Given the description of an element on the screen output the (x, y) to click on. 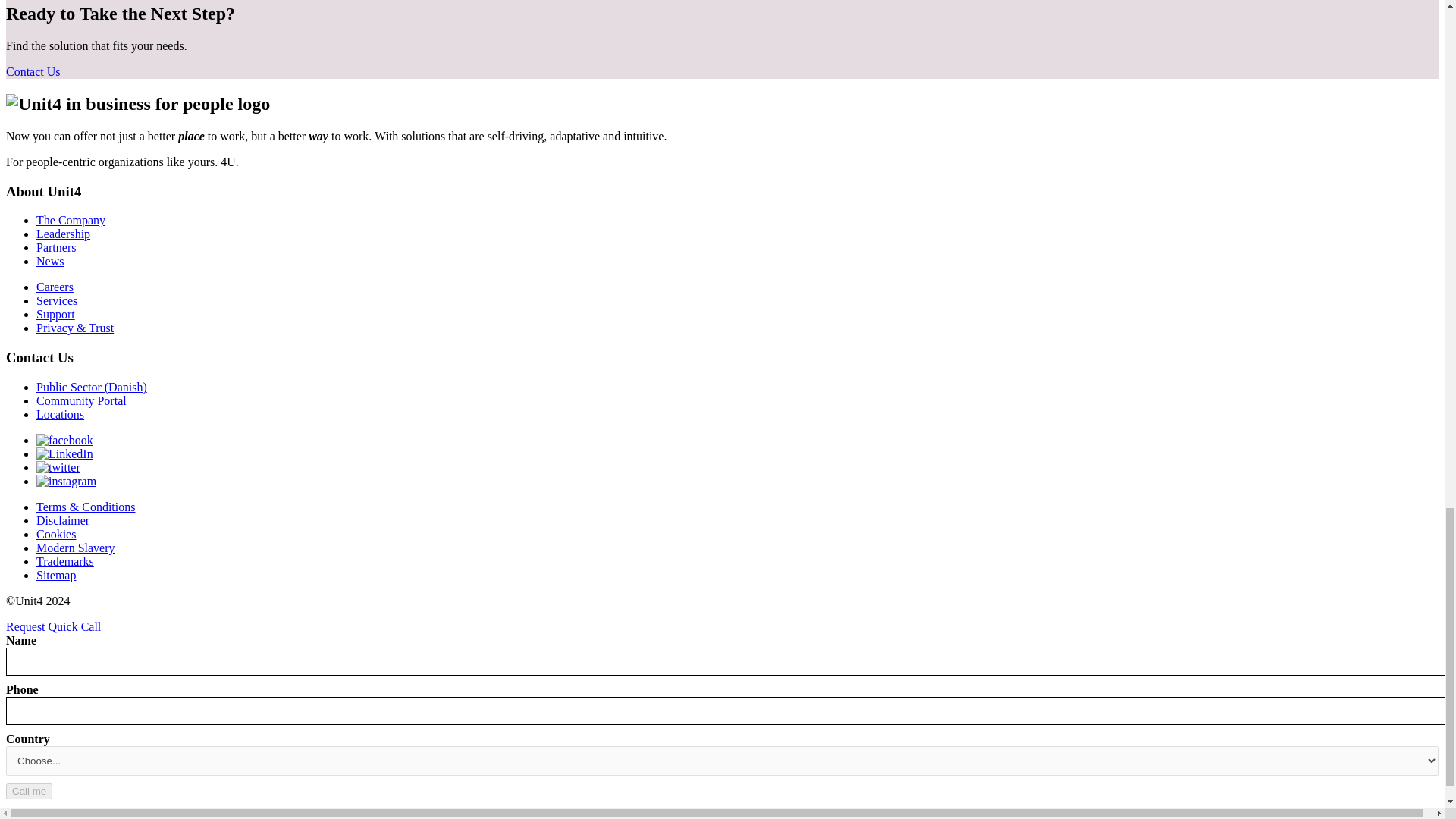
Leadership (63, 233)
Contact Us (33, 71)
Partners (55, 246)
The Company (70, 219)
